Given the description of an element on the screen output the (x, y) to click on. 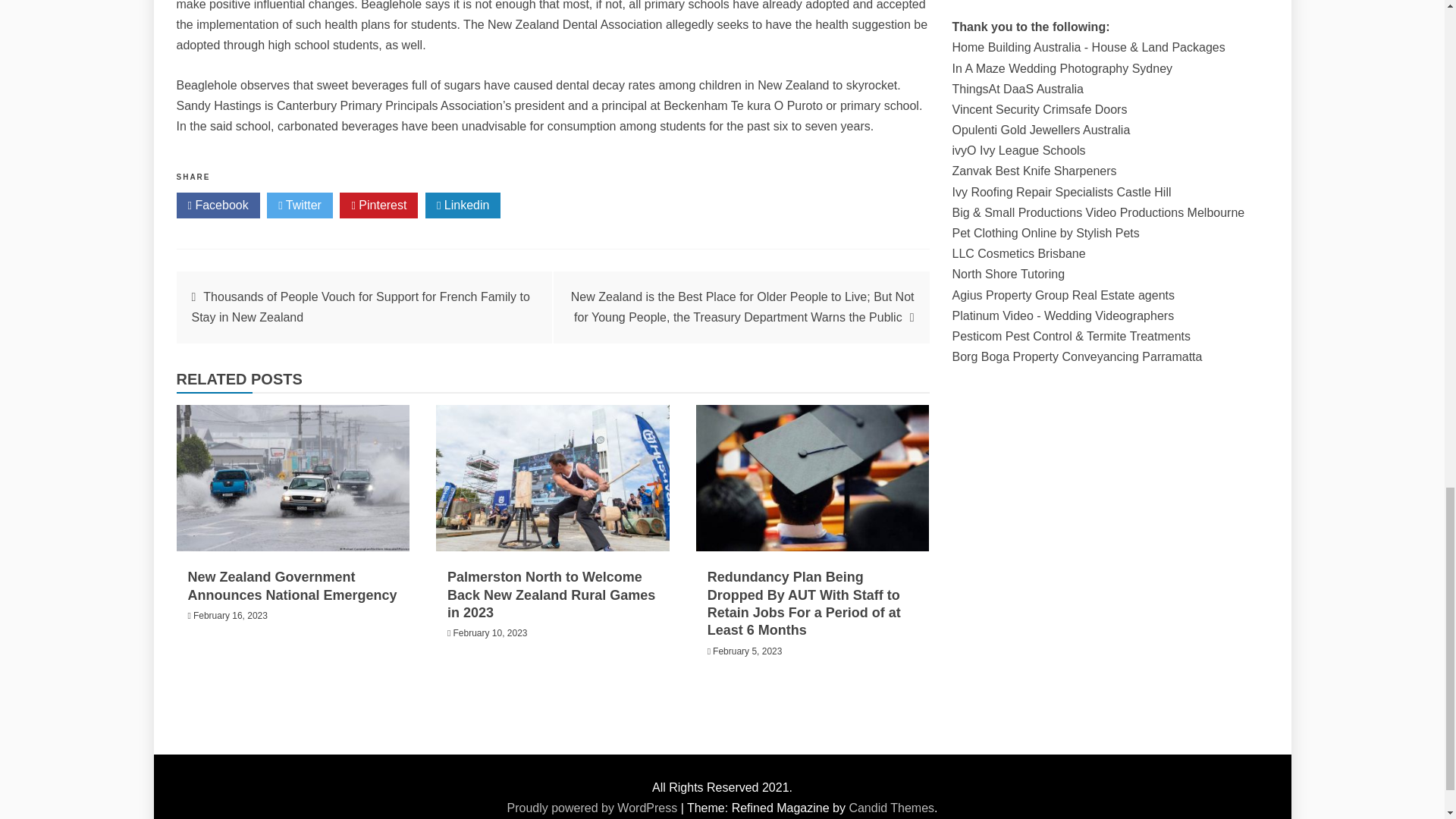
Pinterest (378, 205)
February 5, 2023 (747, 651)
Twitter (299, 205)
February 16, 2023 (230, 615)
New Zealand Government Announces National Emergency (292, 585)
Linkedin (462, 205)
February 10, 2023 (489, 633)
